Given the description of an element on the screen output the (x, y) to click on. 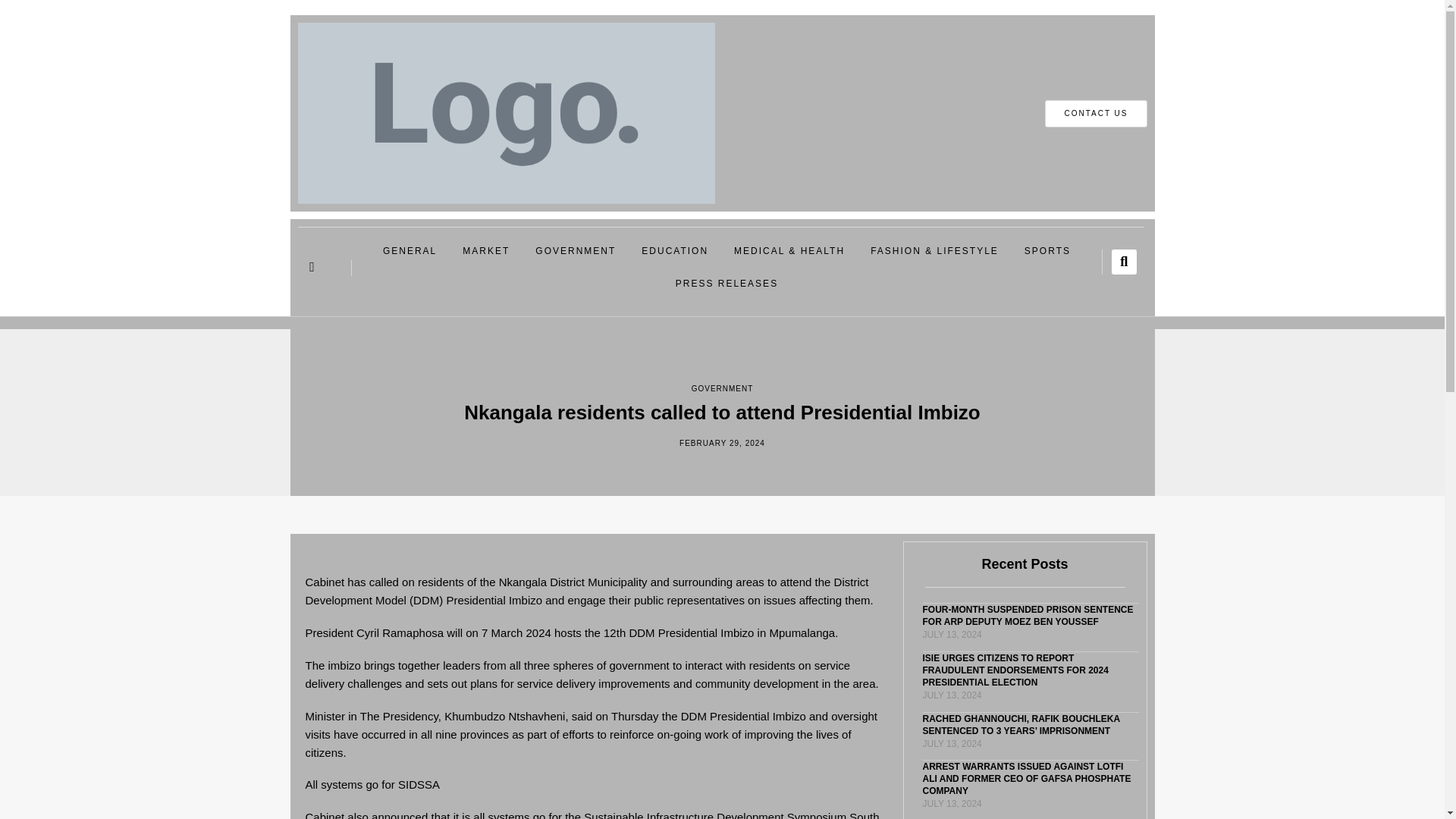
PRESS RELEASES (726, 283)
SPORTS (1047, 251)
MARKET (485, 251)
GOVERNMENT (722, 388)
GOVERNMENT (575, 251)
EDUCATION (674, 251)
FEBRUARY 29, 2024 (722, 443)
GENERAL (409, 251)
CONTACT US (1096, 113)
